Given the description of an element on the screen output the (x, y) to click on. 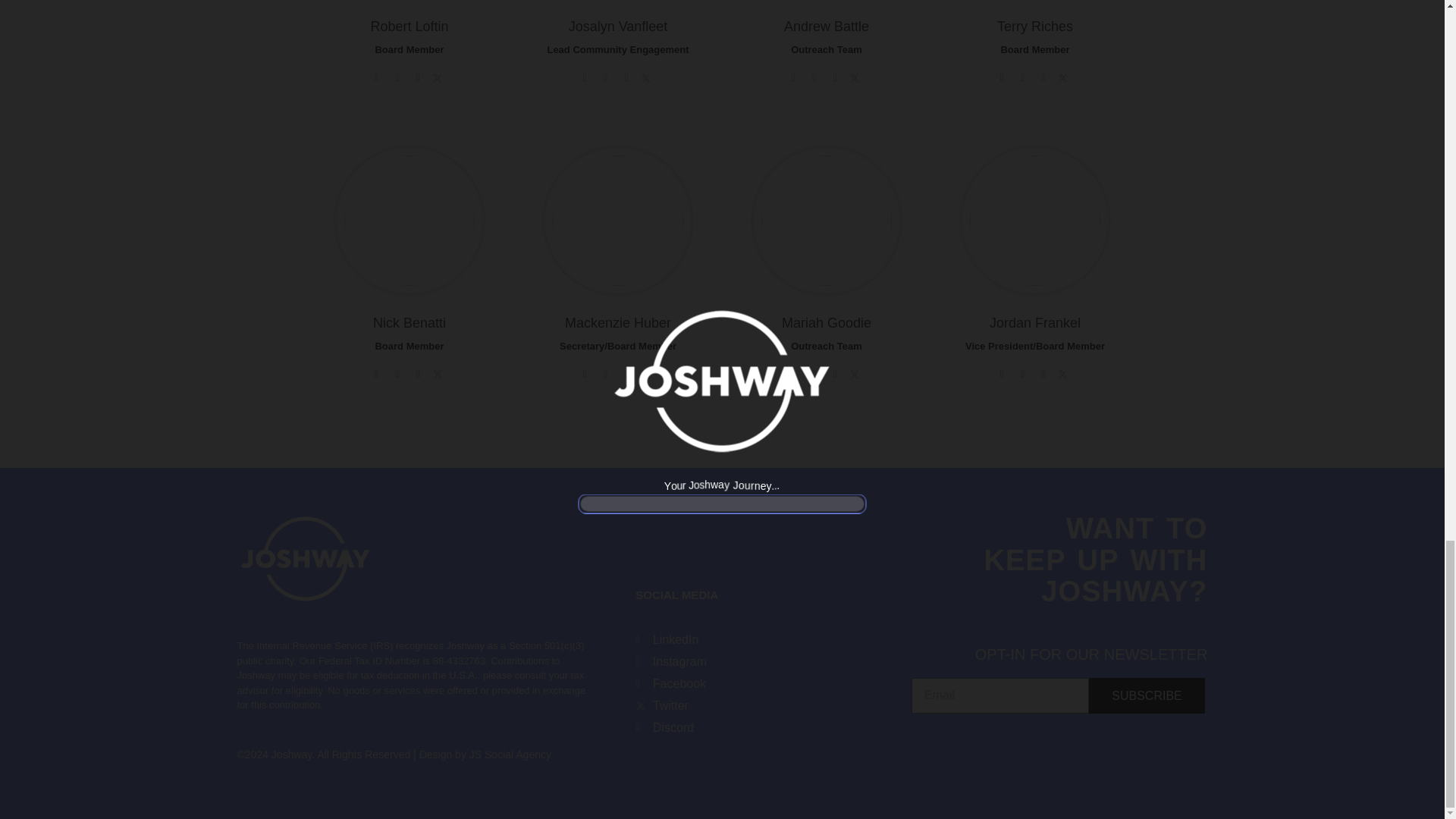
Facebook (716, 683)
SUBSCRIBE (1146, 695)
Discord (716, 728)
Twitter (716, 705)
LinkedIn (716, 639)
Instagram (716, 661)
JS Social Agency  (511, 754)
